Given the description of an element on the screen output the (x, y) to click on. 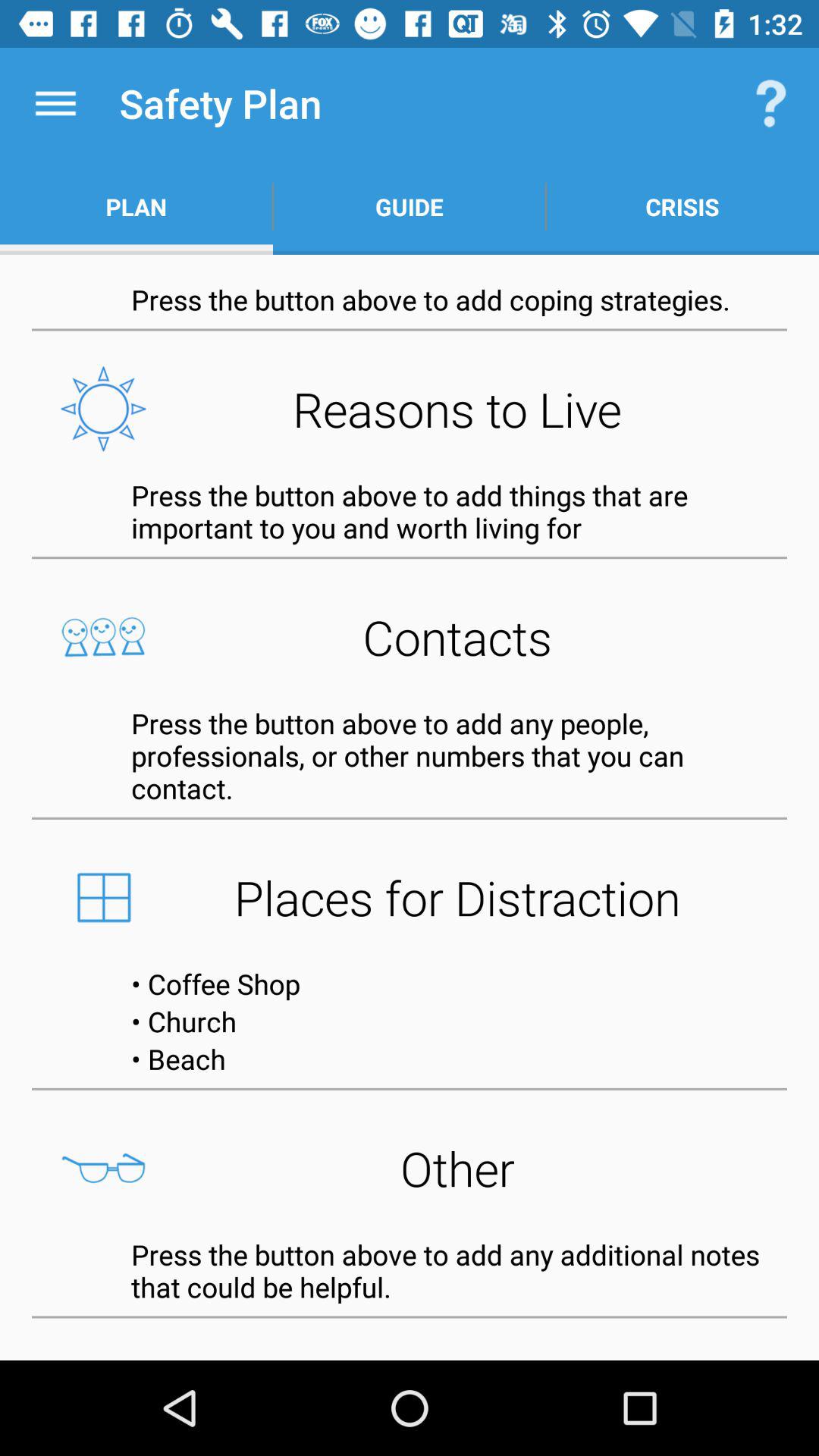
jump until crisis item (682, 206)
